Given the description of an element on the screen output the (x, y) to click on. 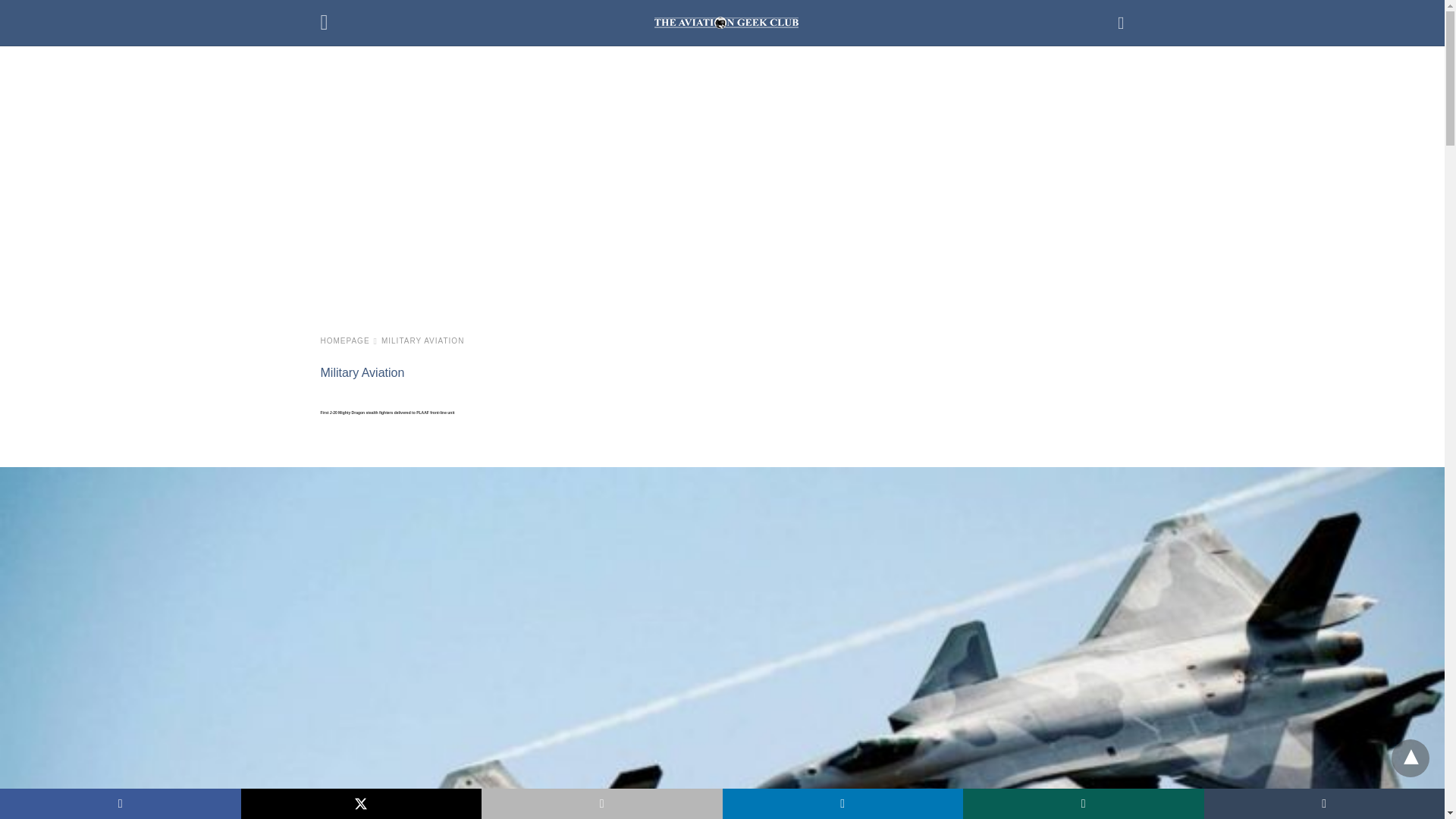
Military Aviation (362, 372)
Military Aviation (362, 372)
Military Aviation (422, 340)
The Aviation Geek Club (725, 22)
MILITARY AVIATION (422, 340)
HOMEPAGE (348, 340)
Homepage (348, 340)
